Given the description of an element on the screen output the (x, y) to click on. 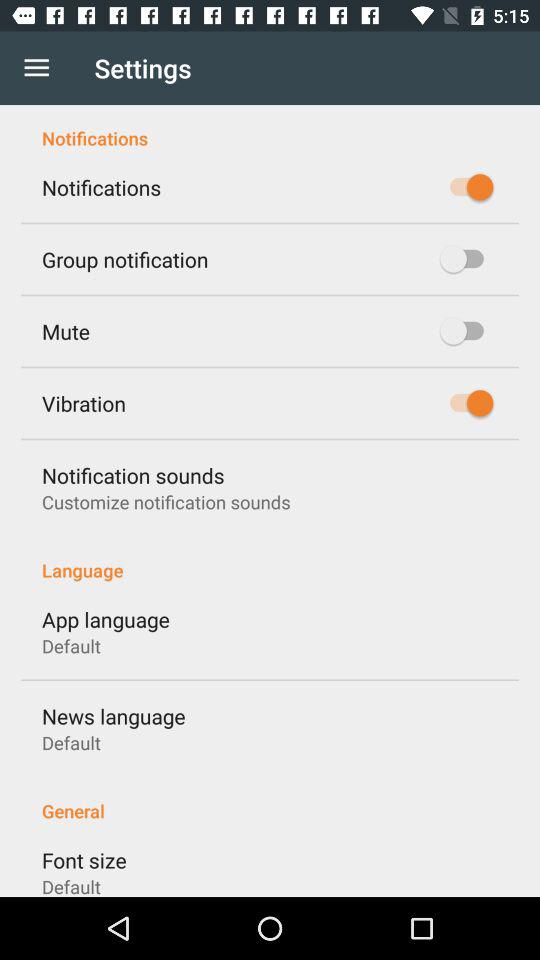
choose mute (66, 331)
